Given the description of an element on the screen output the (x, y) to click on. 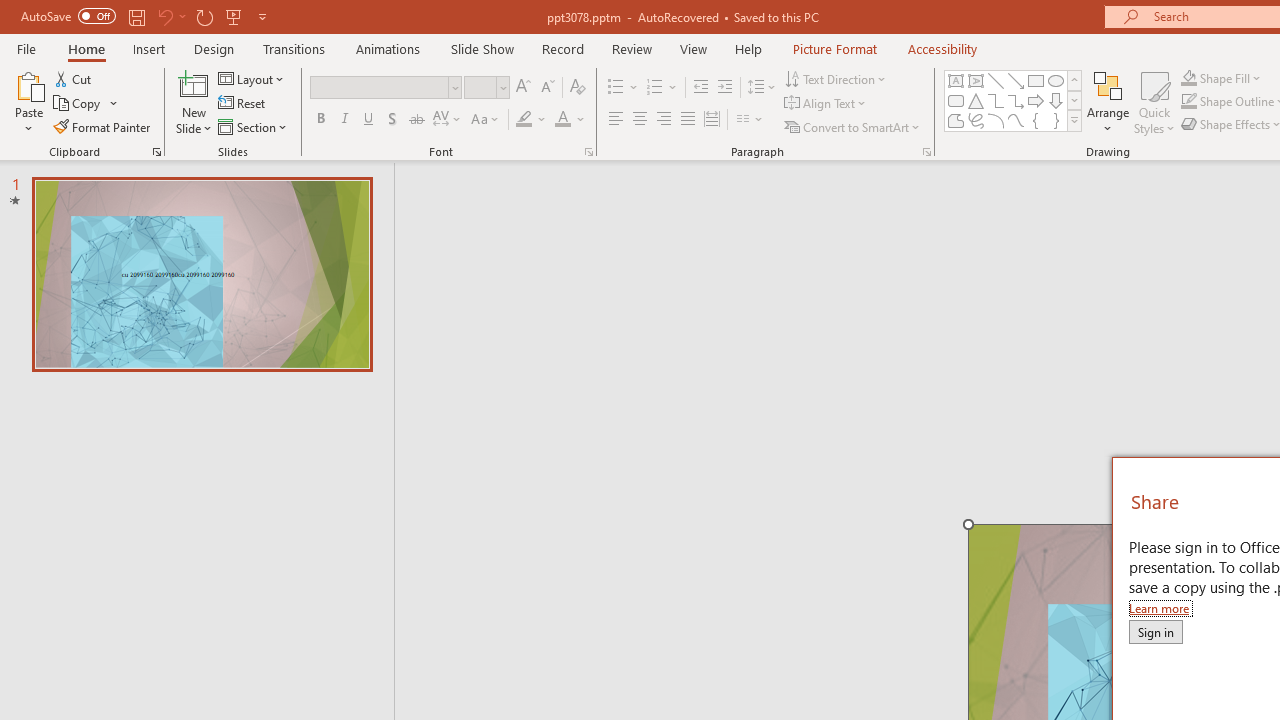
Rectangle (1035, 80)
Convert to SmartArt (853, 126)
Font Color (562, 119)
Bold (320, 119)
Font... (588, 151)
Decrease Indent (700, 87)
Oval (1055, 80)
Picture Format (834, 48)
Arrow: Down (1055, 100)
Align Text (826, 103)
